Given the description of an element on the screen output the (x, y) to click on. 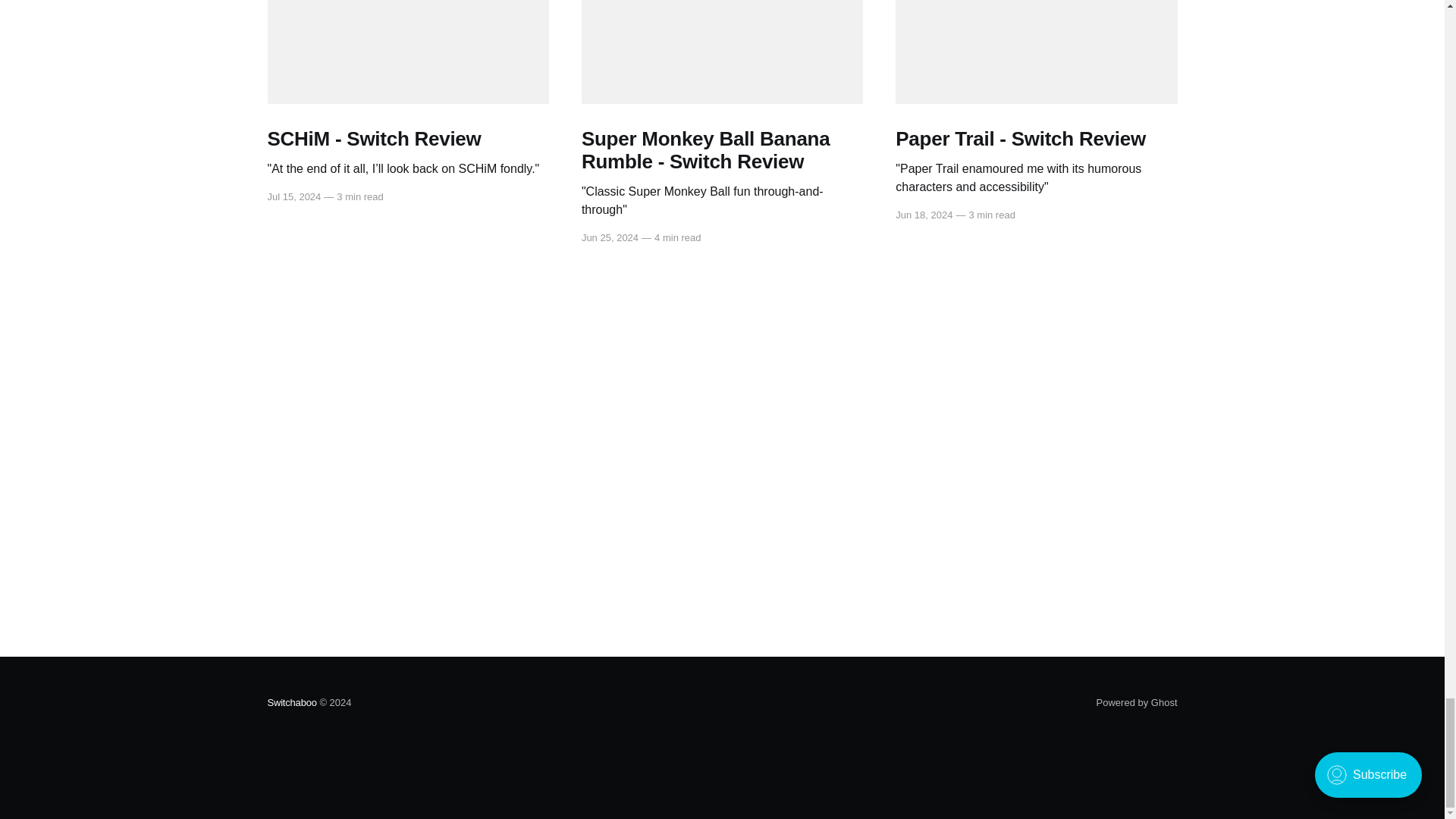
Switchaboo (290, 702)
Powered by Ghost (1136, 702)
